Given the description of an element on the screen output the (x, y) to click on. 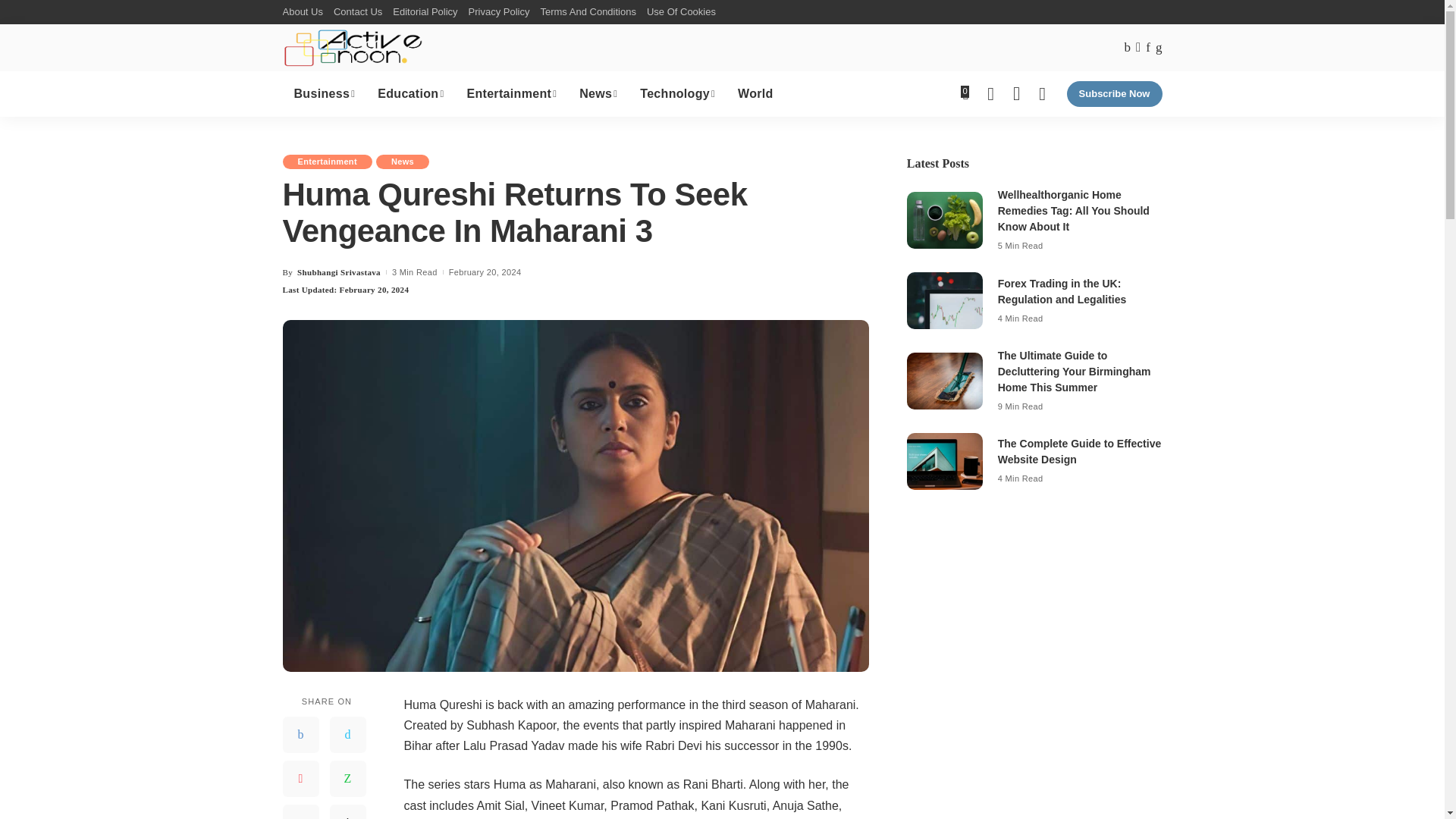
Terms And Conditions (587, 11)
Use Of Cookies (681, 11)
About Us (304, 11)
Contact Us (358, 11)
Active Noon (353, 47)
Privacy Policy (499, 11)
Editorial Policy (425, 11)
